Given the description of an element on the screen output the (x, y) to click on. 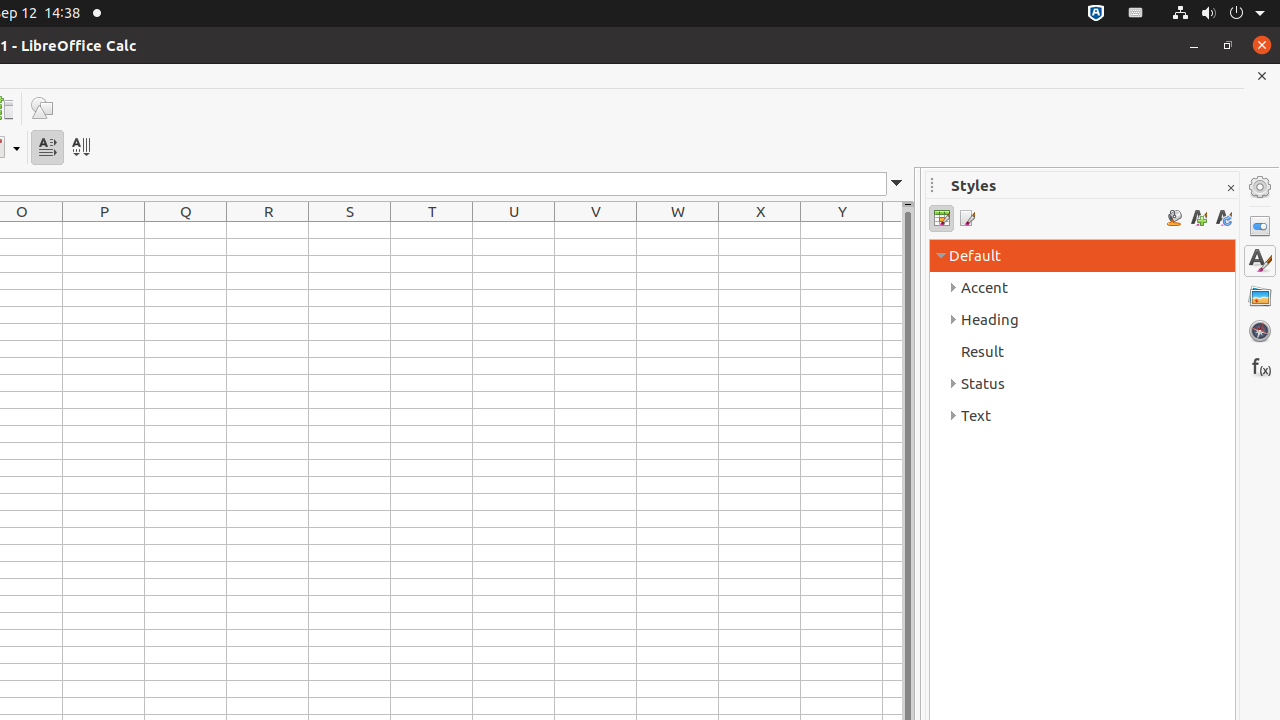
V1 Element type: table-cell (596, 230)
Fill Format Mode Element type: push-button (1173, 218)
Functions Element type: radio-button (1260, 366)
System Element type: menu (1218, 13)
Page Styles Element type: push-button (966, 218)
